Given the description of an element on the screen output the (x, y) to click on. 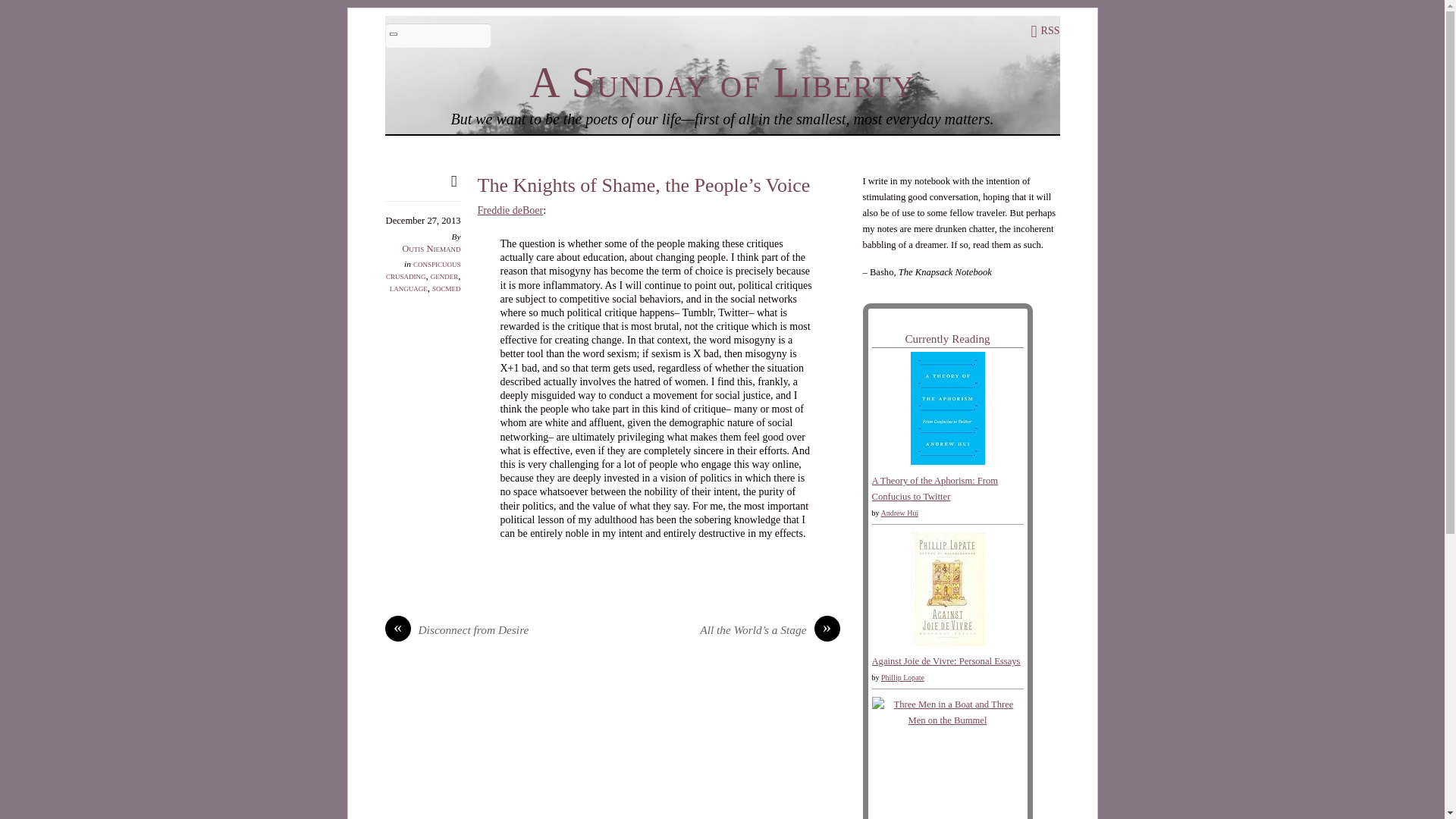
Against Joie de Vivre: Personal Essays (946, 661)
gender (444, 276)
Andrew Hui (899, 512)
A Theory of the Aphorism: From Confucius to Twitter (935, 488)
A Sunday of Liberty (721, 82)
Three Men in a Boat and Three Men on the Bummel (947, 719)
Search (438, 35)
RSS (1044, 30)
A Theory of the Aphorism: From Confucius to Twitter (947, 461)
Phillip Lopate (902, 677)
